Given the description of an element on the screen output the (x, y) to click on. 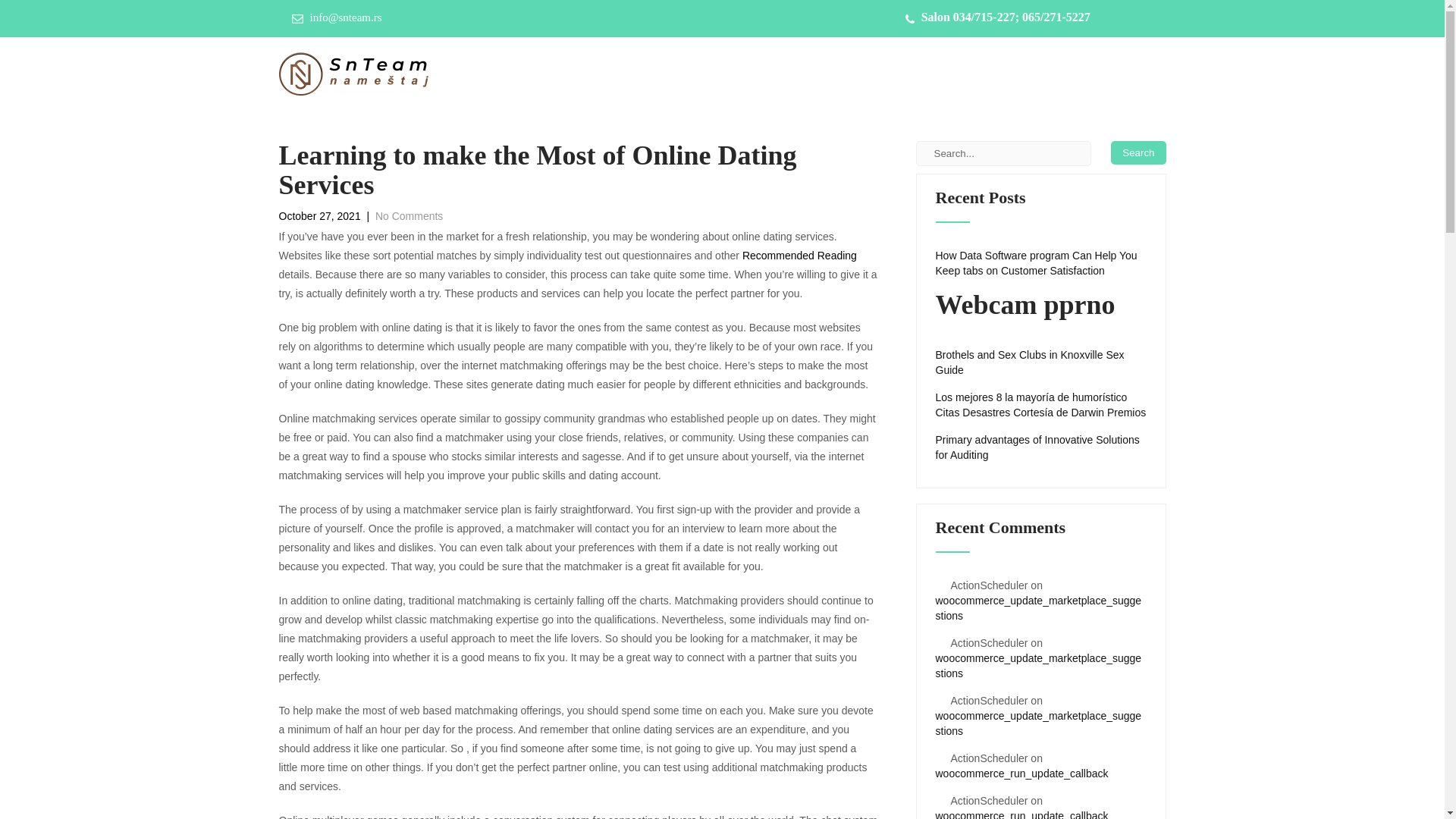
Search (1138, 152)
Search (1138, 152)
